Given the description of an element on the screen output the (x, y) to click on. 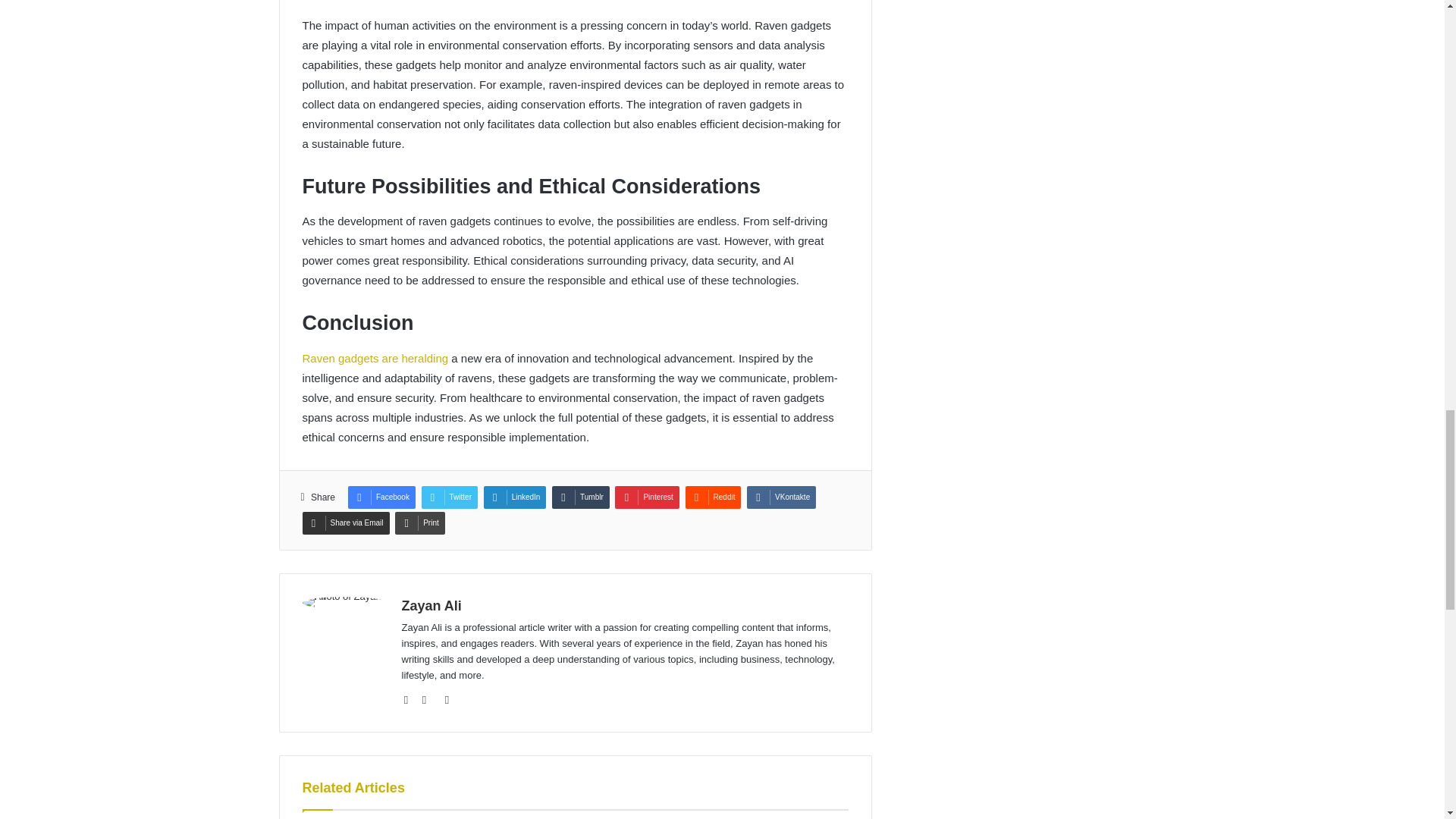
Raven gadgets are heralding (374, 358)
Twitter (449, 497)
Facebook (380, 497)
LinkedIn (515, 497)
